Given the description of an element on the screen output the (x, y) to click on. 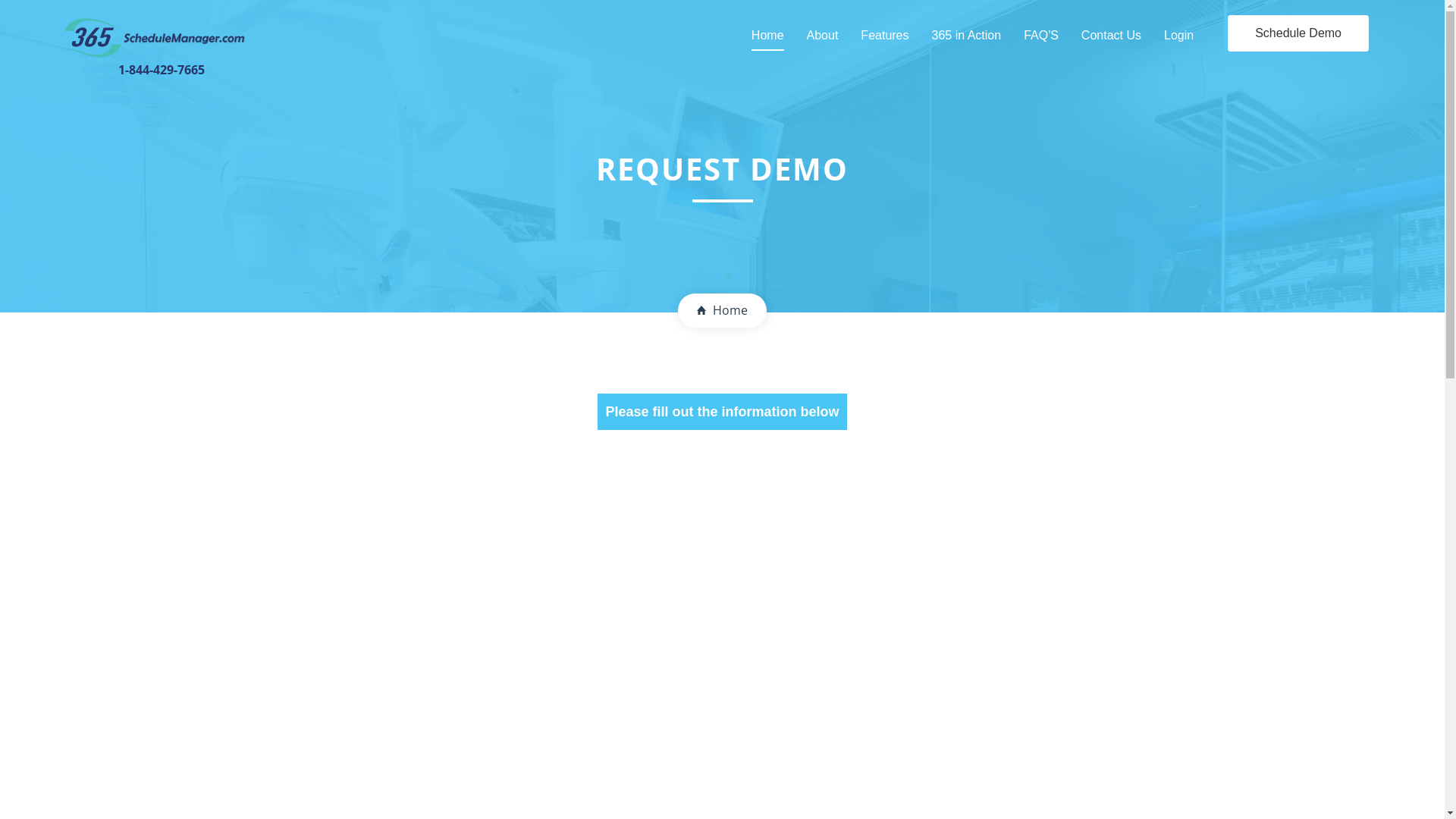
365 in Action Element type: text (966, 35)
Features Element type: text (884, 35)
Home Element type: text (721, 309)
Schedule Demo Element type: text (1297, 33)
Contact Us Element type: text (1111, 35)
1-844-429-7665 Element type: text (160, 46)
About Element type: text (822, 35)
Login Element type: text (1178, 35)
FAQ'S Element type: text (1040, 35)
Home Element type: text (767, 35)
